Given the description of an element on the screen output the (x, y) to click on. 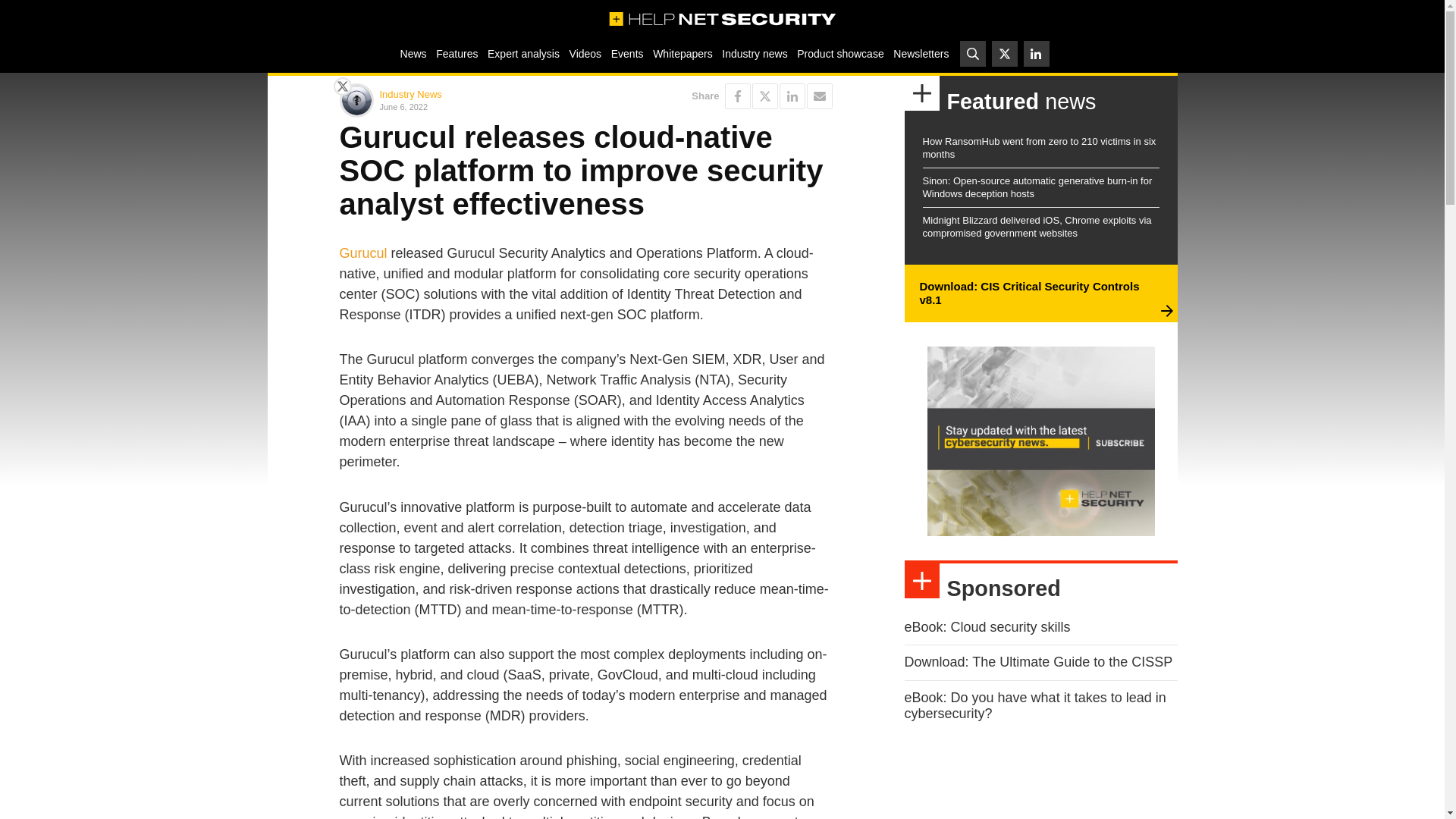
Videos (584, 53)
Industry news (754, 53)
Gurucul (363, 253)
Whitepapers (682, 53)
Download: CIS Critical Security Controls v8.1 (1028, 293)
Product showcase (840, 53)
How RansomHub went from zero to 210 victims in six months (1038, 147)
How RansomHub went from zero to 210 victims in six months (1038, 147)
